Given the description of an element on the screen output the (x, y) to click on. 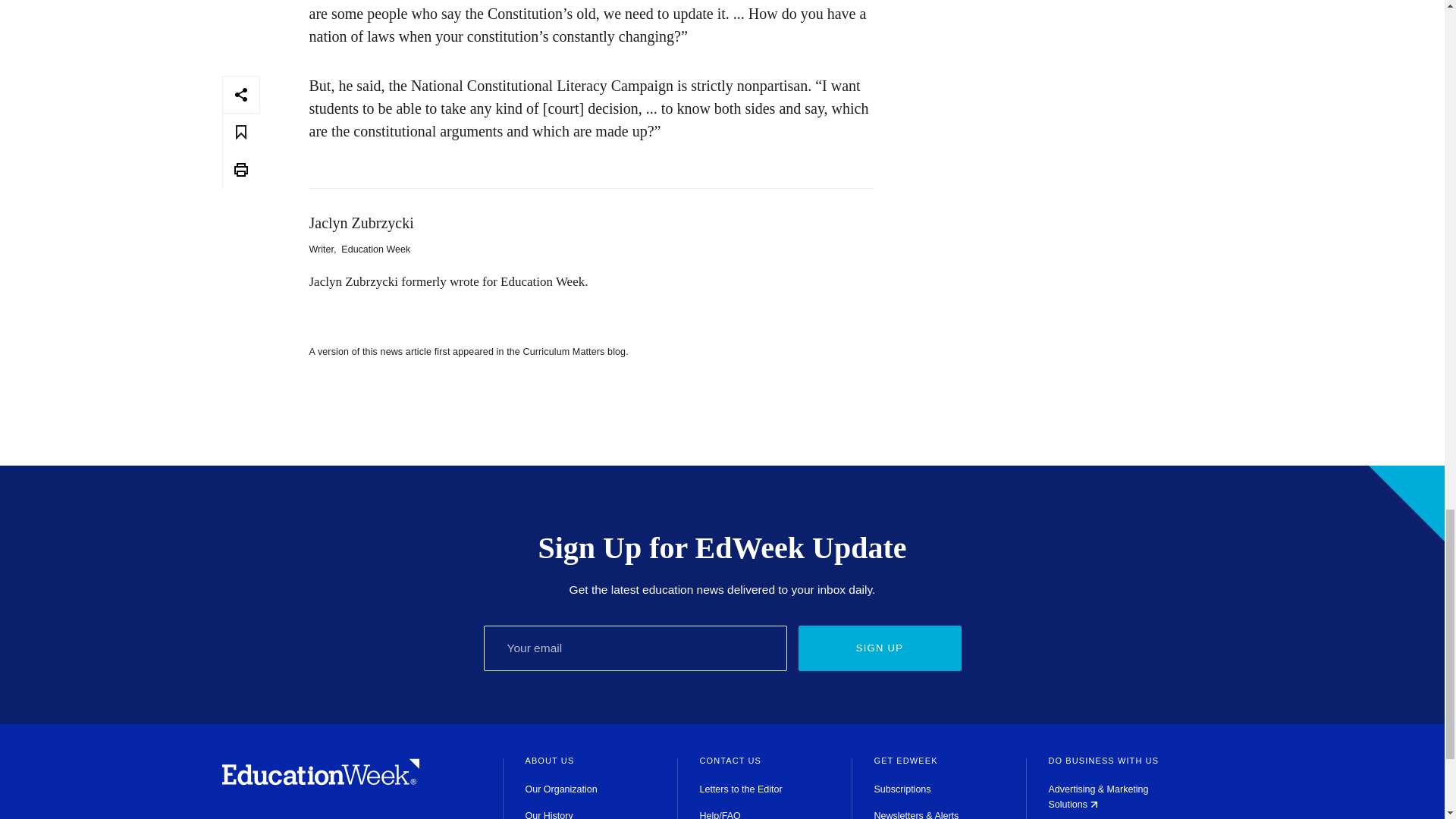
Homepage (320, 780)
